Given the description of an element on the screen output the (x, y) to click on. 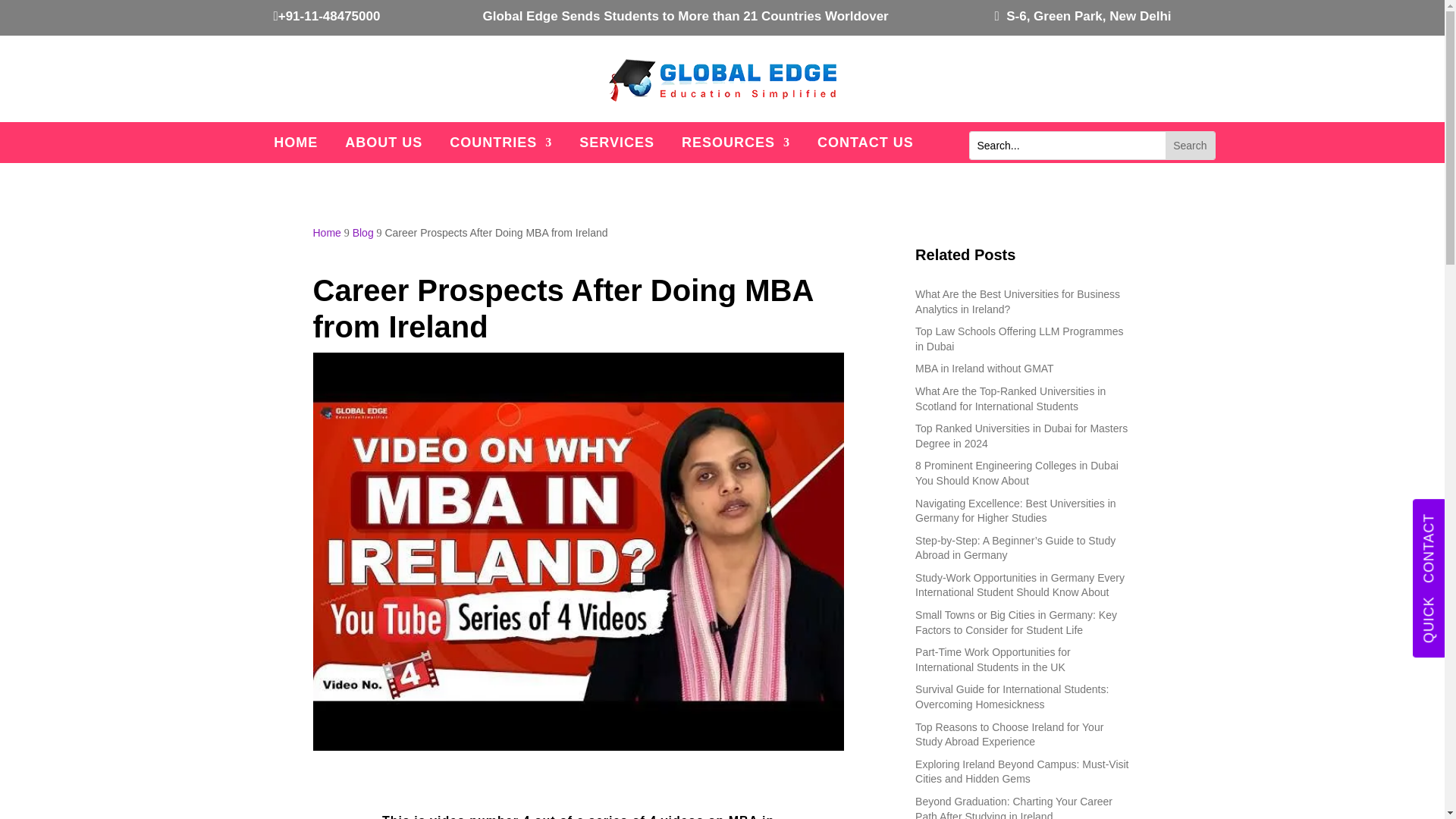
RESOURCES (735, 145)
Blog (363, 232)
HOME (295, 145)
Search (1190, 144)
Search (1190, 144)
ABOUT US (383, 145)
Home (326, 232)
COUNTRIES (500, 145)
logo (721, 79)
